Given the description of an element on the screen output the (x, y) to click on. 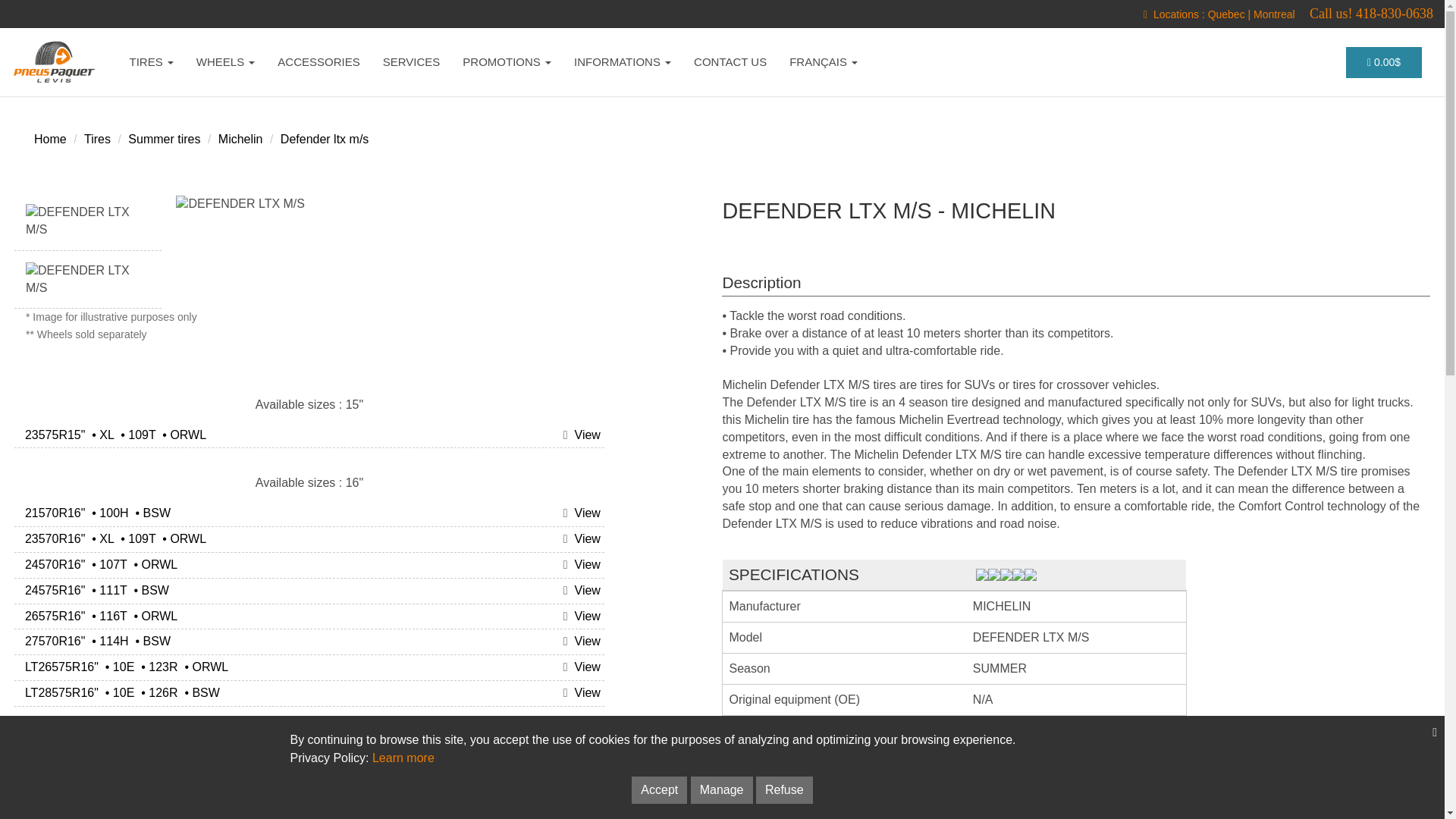
Pneus St-Hubert (1273, 14)
Quebec (1226, 14)
SERVICES (411, 61)
Pneus Paquet (1226, 14)
Pneus Paquet (55, 61)
Montreal (1273, 14)
PROMOTIONS  (506, 61)
Call us! 418-830-0638 (1370, 13)
WHEELS  (225, 61)
ACCESSORIES (318, 61)
